Given the description of an element on the screen output the (x, y) to click on. 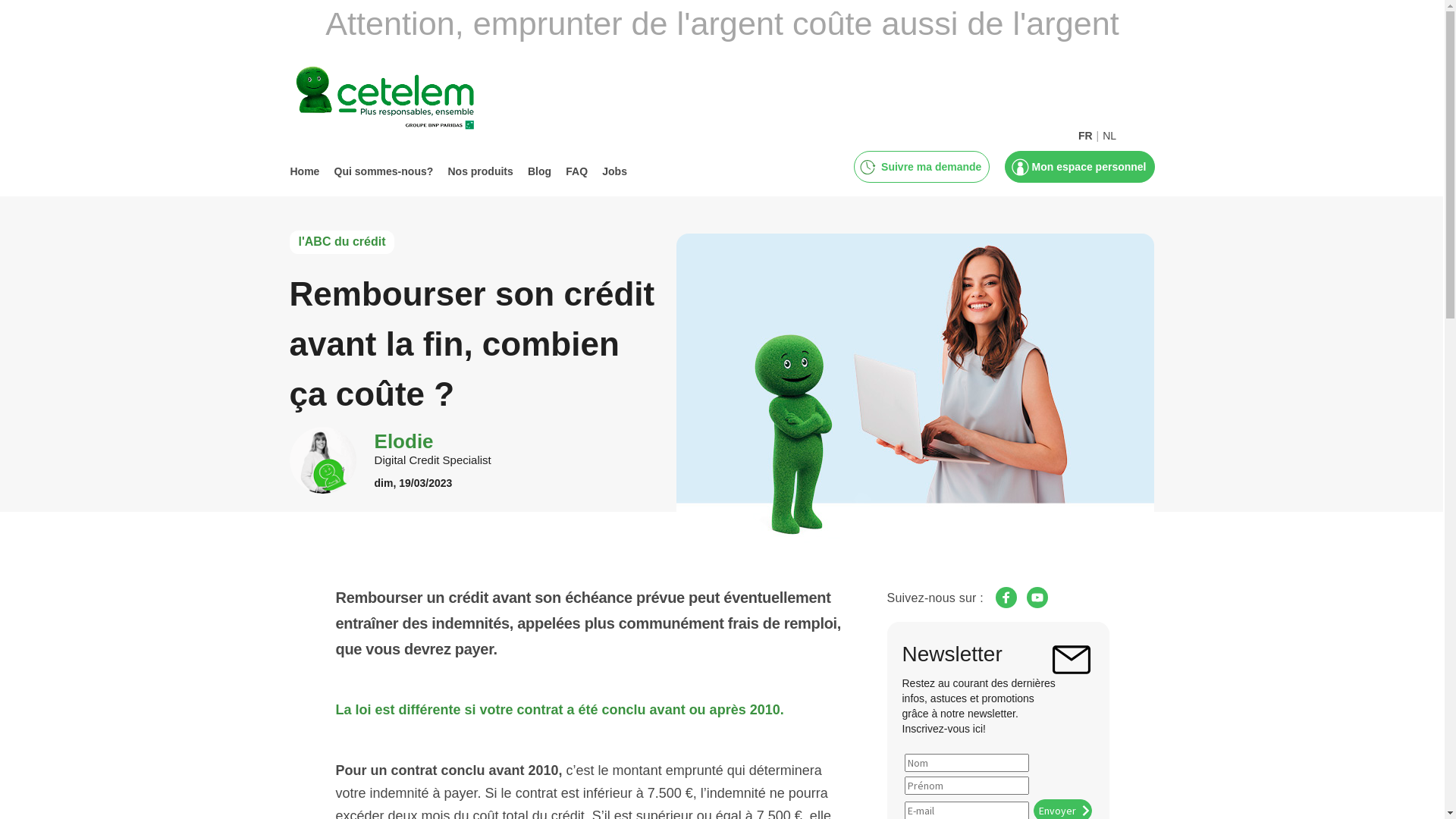
Home Element type: text (304, 170)
Accueil Element type: hover (399, 100)
Nos produits Element type: text (479, 170)
Qui sommes-nous? Element type: text (383, 170)
Jobs Element type: text (614, 170)
FAQ Element type: text (576, 170)
Blog Element type: text (539, 170)
NL Element type: text (1109, 128)
Mon espace personnel Element type: text (1087, 166)
Suivre ma demande Element type: text (929, 166)
FR Element type: text (1085, 128)
